Given the description of an element on the screen output the (x, y) to click on. 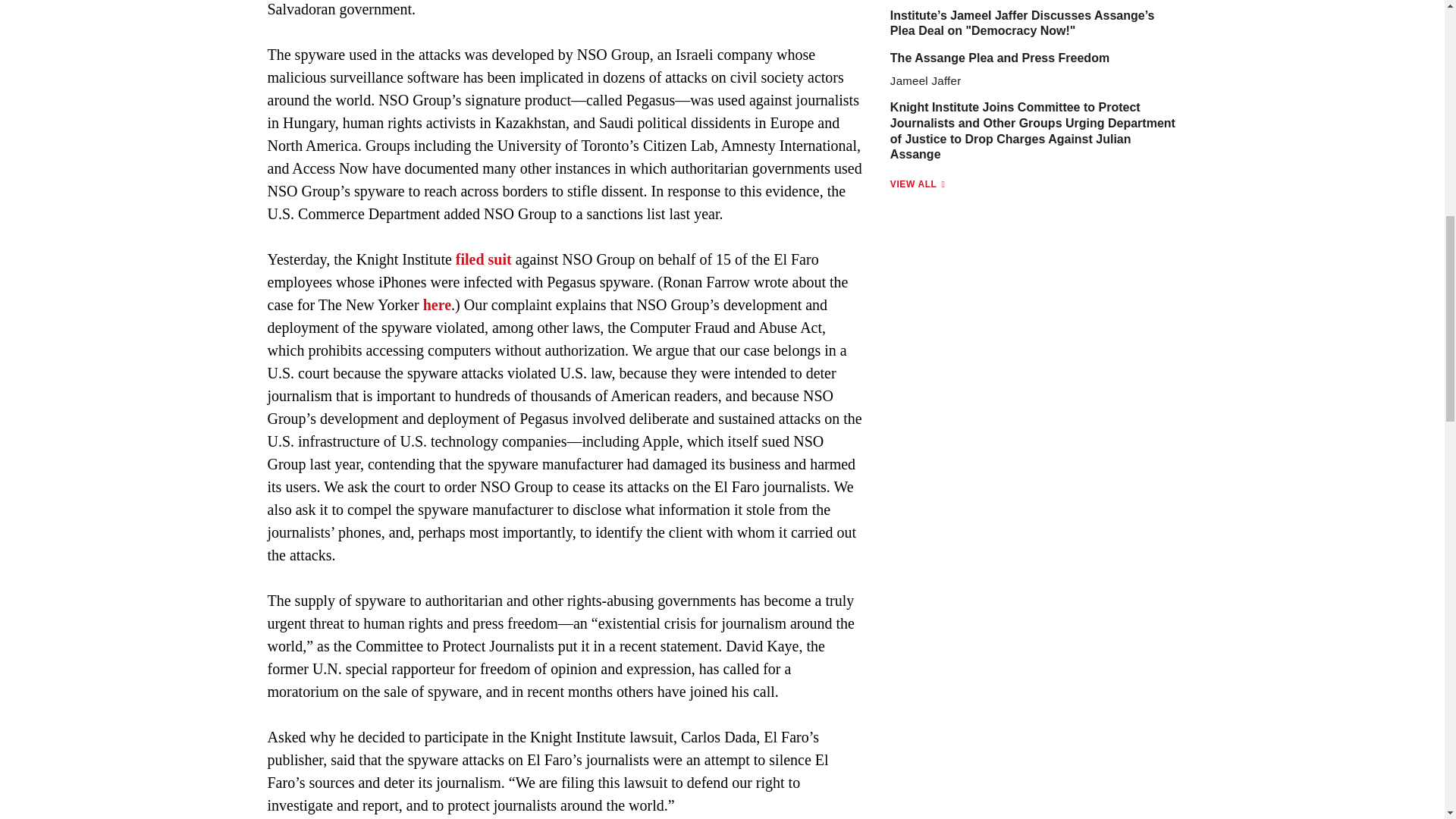
filed suit (483, 258)
here (437, 304)
